Given the description of an element on the screen output the (x, y) to click on. 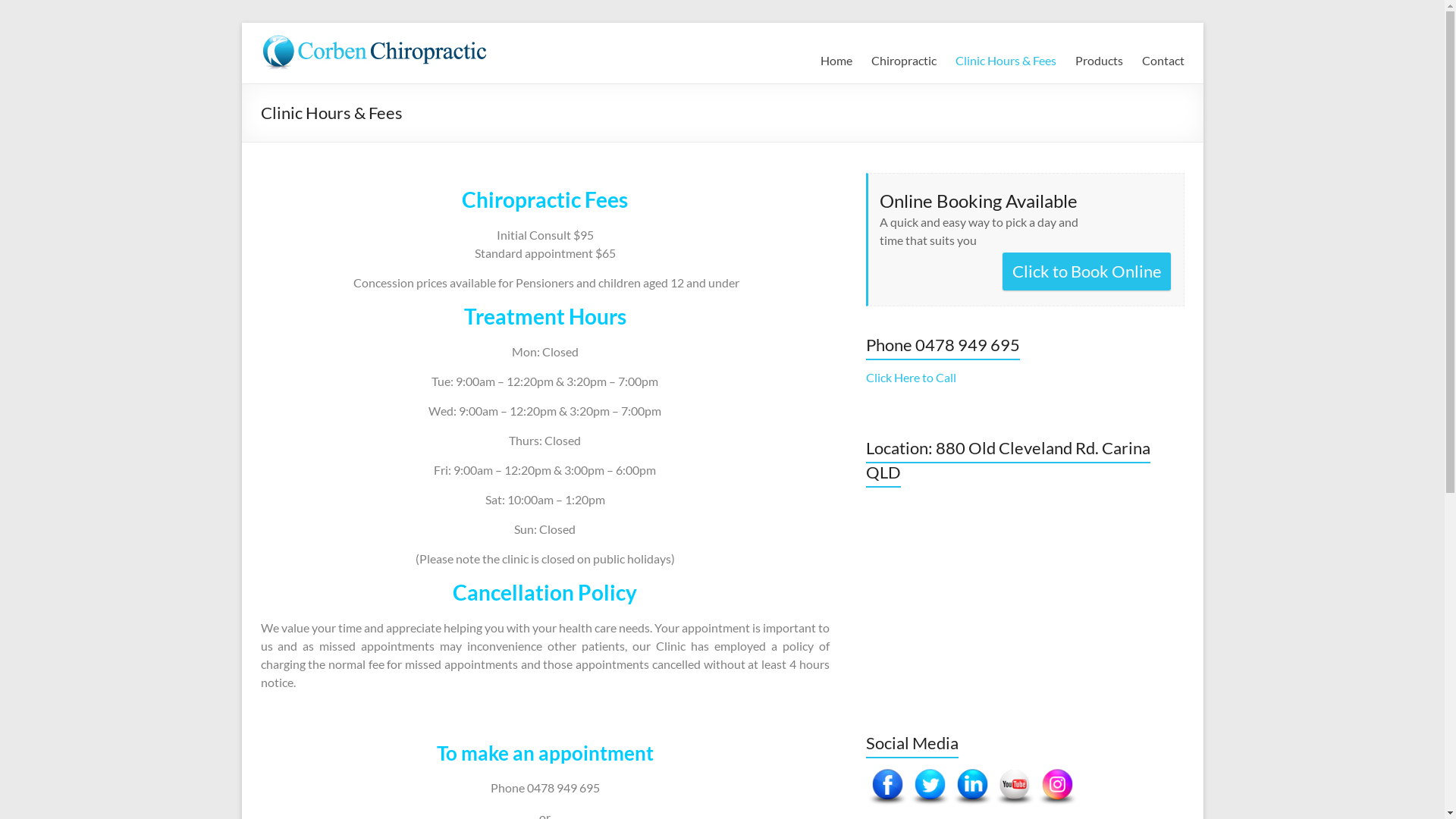
Click Here to Call Element type: text (911, 377)
Visit Us On Twitter Element type: hover (929, 773)
Visit Us On Facebook Element type: hover (887, 773)
Visit Us On Youtube Element type: hover (1014, 773)
Visit Us On Instagram Element type: hover (1056, 773)
Visit Us On Linkedin Element type: hover (971, 773)
Products Element type: text (1099, 60)
Contact Element type: text (1163, 60)
Click to Book Online Element type: text (1086, 271)
Chiropractic Element type: text (902, 60)
Corben Chiropractic Element type: text (333, 68)
Skip to content Element type: text (241, 21)
Clinic Hours & Fees Element type: text (1005, 60)
Home Element type: text (836, 60)
